Given the description of an element on the screen output the (x, y) to click on. 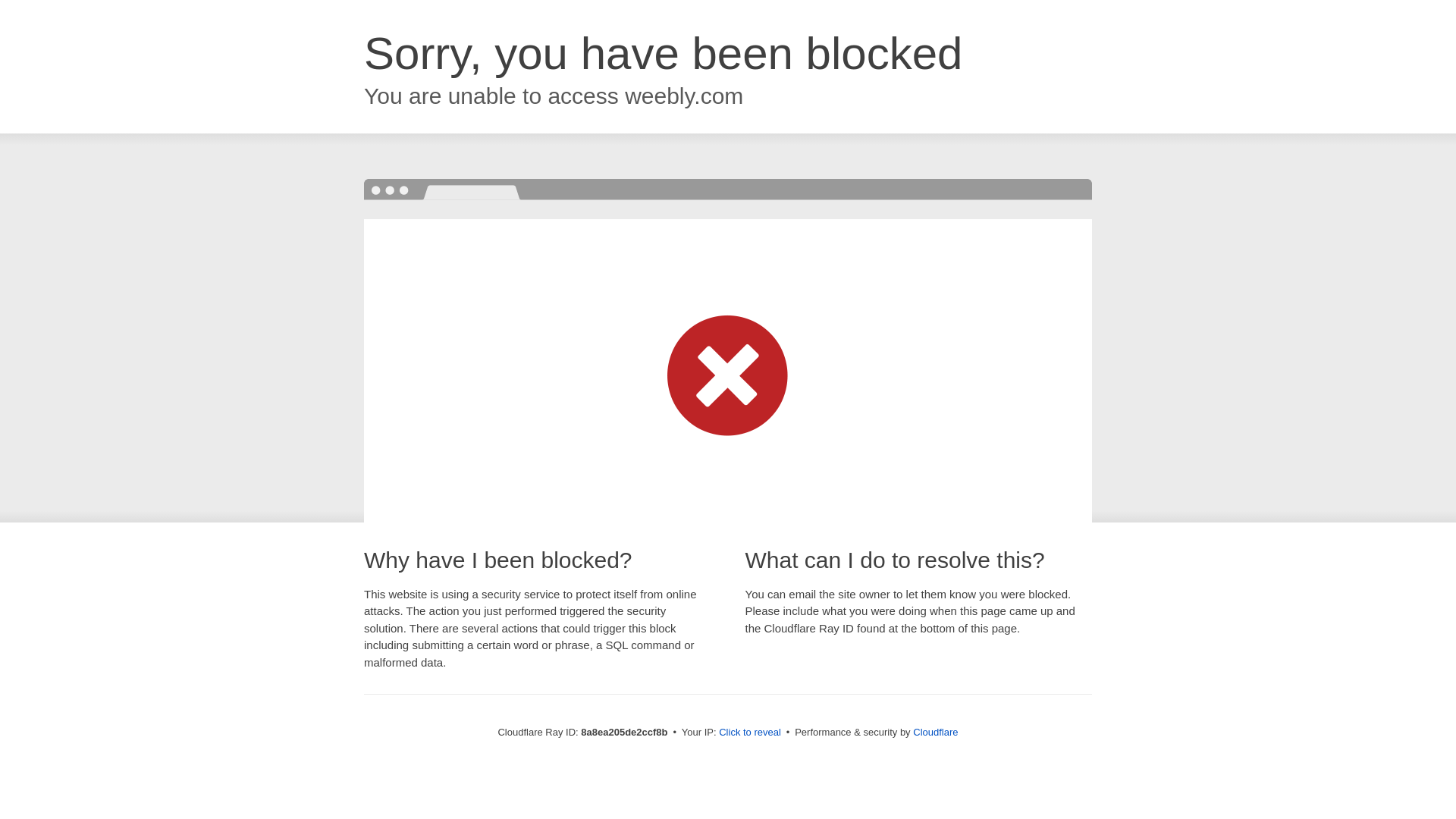
Click to reveal (749, 732)
Cloudflare (935, 731)
